Given the description of an element on the screen output the (x, y) to click on. 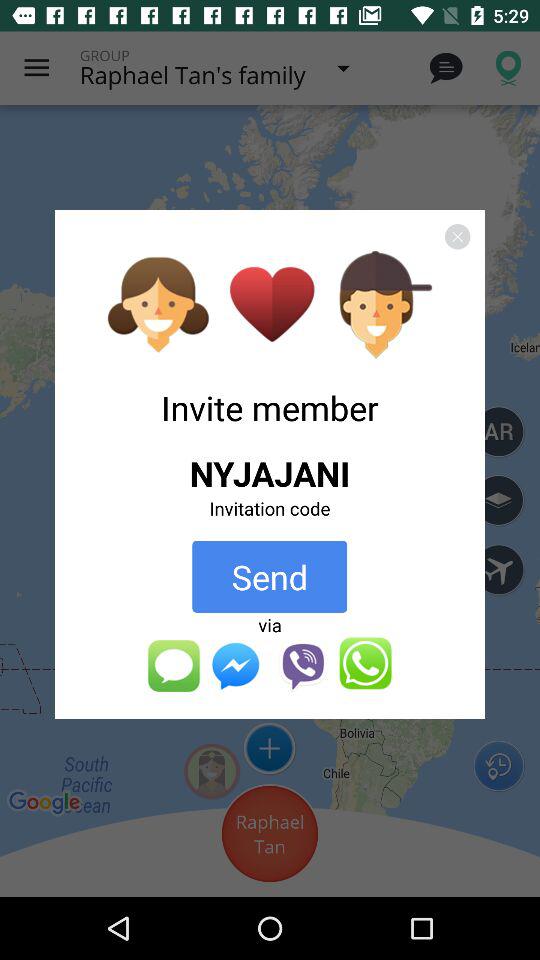
swipe to the via app (269, 624)
